Given the description of an element on the screen output the (x, y) to click on. 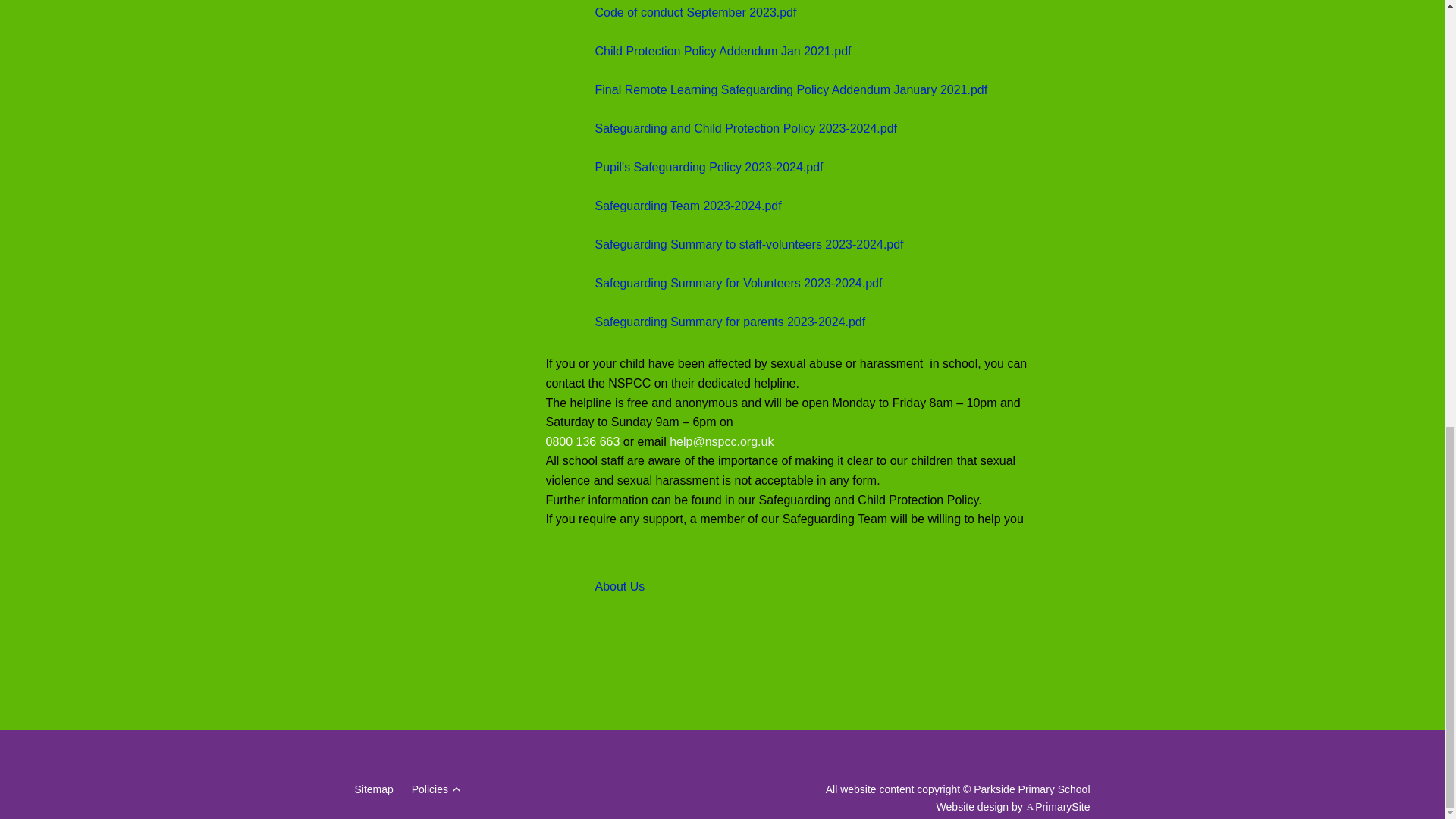
Code of conduct September 2023.pdf (671, 14)
Pupil's Safeguarding Policy 2023-2024.pdf (685, 166)
Safeguarding and Child Protection Policy 2023-2024.pdf (722, 127)
Child Protection Policy Addendum Jan 2021.pdf (698, 50)
About Us (595, 586)
Safeguarding Team 2023-2024.pdf (663, 205)
Safeguarding Summary for Volunteers 2023-2024.pdf (714, 282)
Safeguarding Summary to staff-volunteers 2023-2024.pdf (725, 243)
Safeguarding Summary for parents 2023-2024.pdf (706, 321)
